Given the description of an element on the screen output the (x, y) to click on. 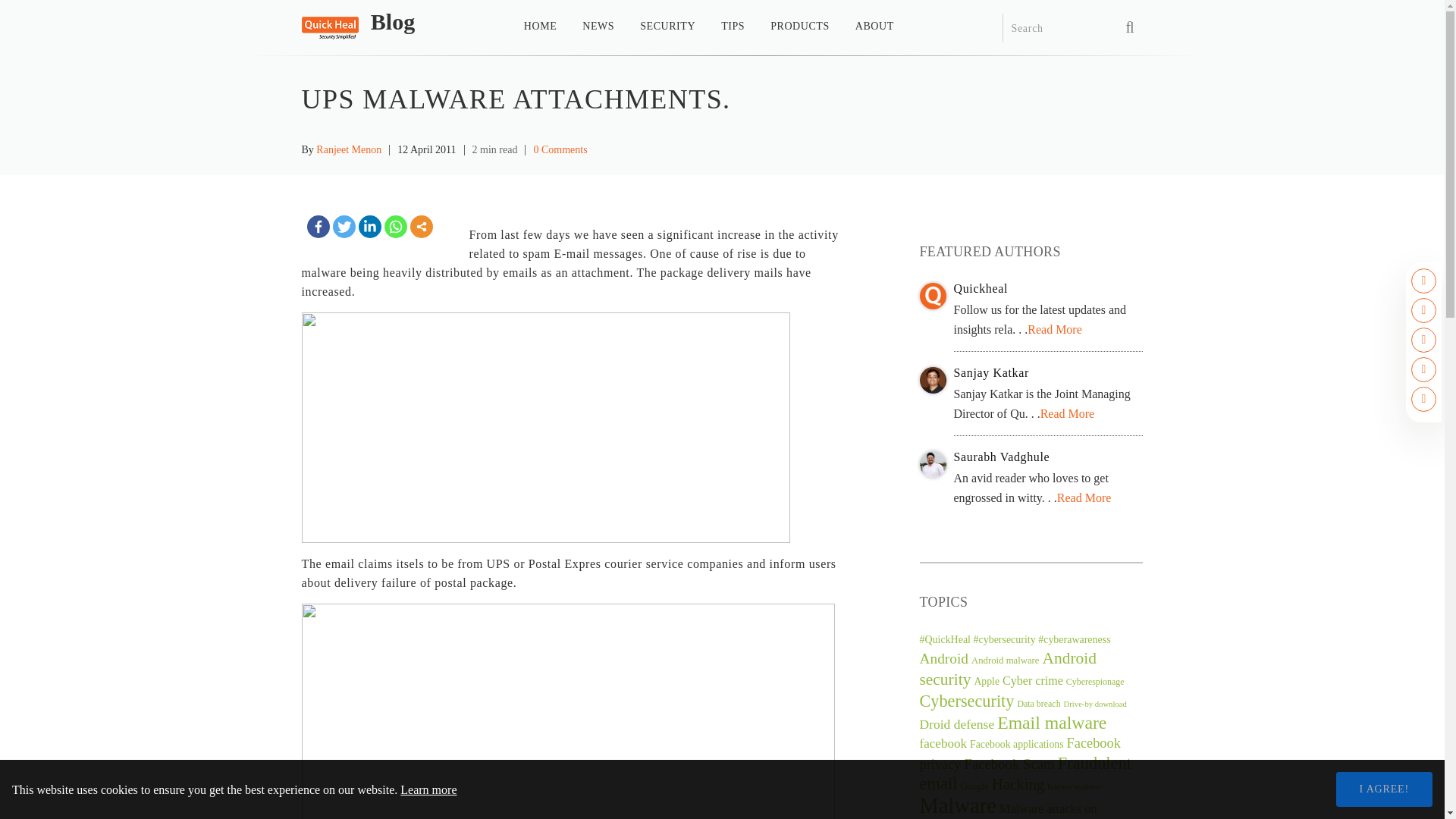
Articles by Quickheal (1047, 289)
Quickheal (1047, 289)
Ranjeet Menon (348, 149)
Cybersecurity (965, 700)
Apple (986, 681)
facebook (942, 743)
ABOUT (874, 31)
Fraudulent email (1024, 773)
Cyber crime (1032, 680)
Articles by Sanjay Katkar (708, 31)
More (1047, 373)
Drive-by download (420, 226)
Email malware (1095, 704)
Twitter (1051, 722)
